Given the description of an element on the screen output the (x, y) to click on. 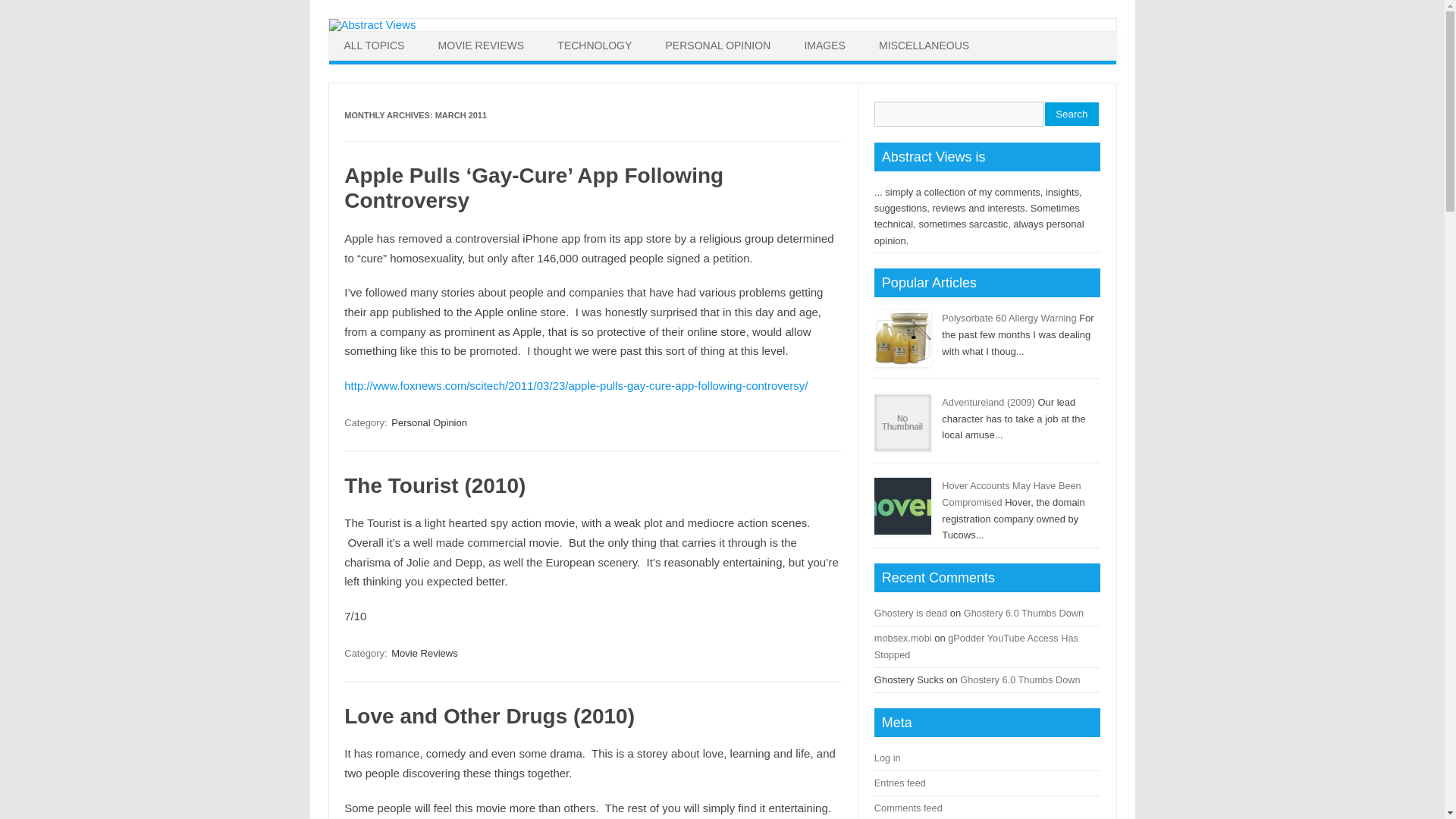
TECHNOLOGY (593, 45)
MISCELLANEOUS (923, 45)
Movie Reviews (424, 653)
Skip to content (759, 36)
Ghostery is dead (911, 613)
Hover Accounts May Have Been Compromised (1011, 493)
Ghostery 6.0 Thumbs Down (1019, 679)
Skip to content (759, 36)
Log in (888, 757)
Comments feed (908, 808)
Personal Opinion (429, 422)
mobsex.mobi (903, 637)
Search (1072, 114)
Ghostery 6.0 Thumbs Down (1023, 613)
Search (1072, 114)
